Given the description of an element on the screen output the (x, y) to click on. 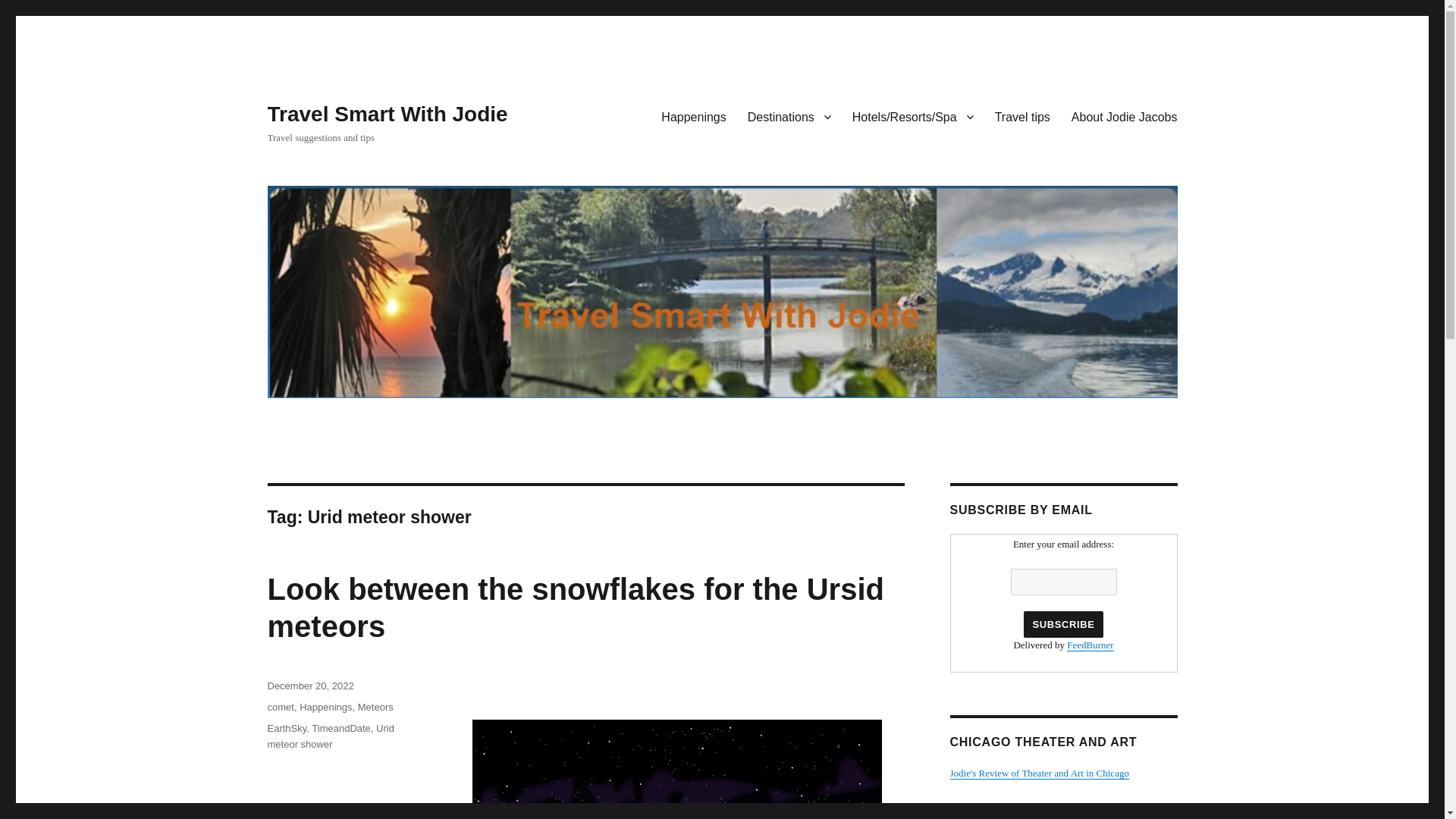
Jodie's Review of Theater and Art in Chicago (1038, 772)
About Jodie Jacobs (1124, 116)
Meteors (375, 706)
FeedBurner (1090, 644)
EarthSky (285, 727)
Travel tips (1022, 116)
Destinations (788, 116)
Travel Smart With Jodie (386, 114)
December 20, 2022 (309, 685)
Happenings (325, 706)
